Given the description of an element on the screen output the (x, y) to click on. 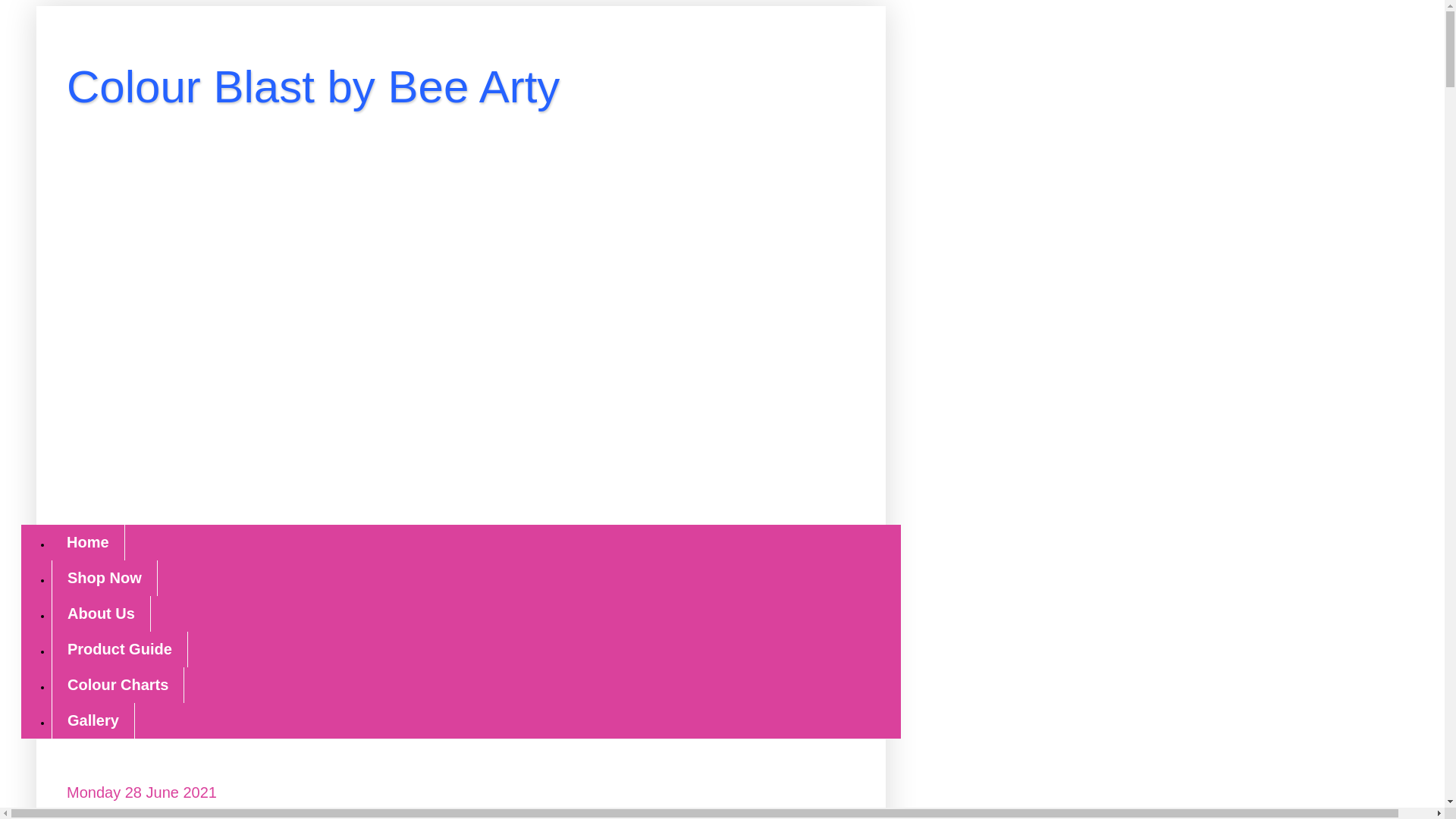
Colour Charts (117, 684)
Gallery (92, 720)
Colour Blast by Bee Arty (312, 86)
About Us (100, 613)
Product Guide (118, 649)
Home (87, 542)
Shop Now (103, 578)
